Given the description of an element on the screen output the (x, y) to click on. 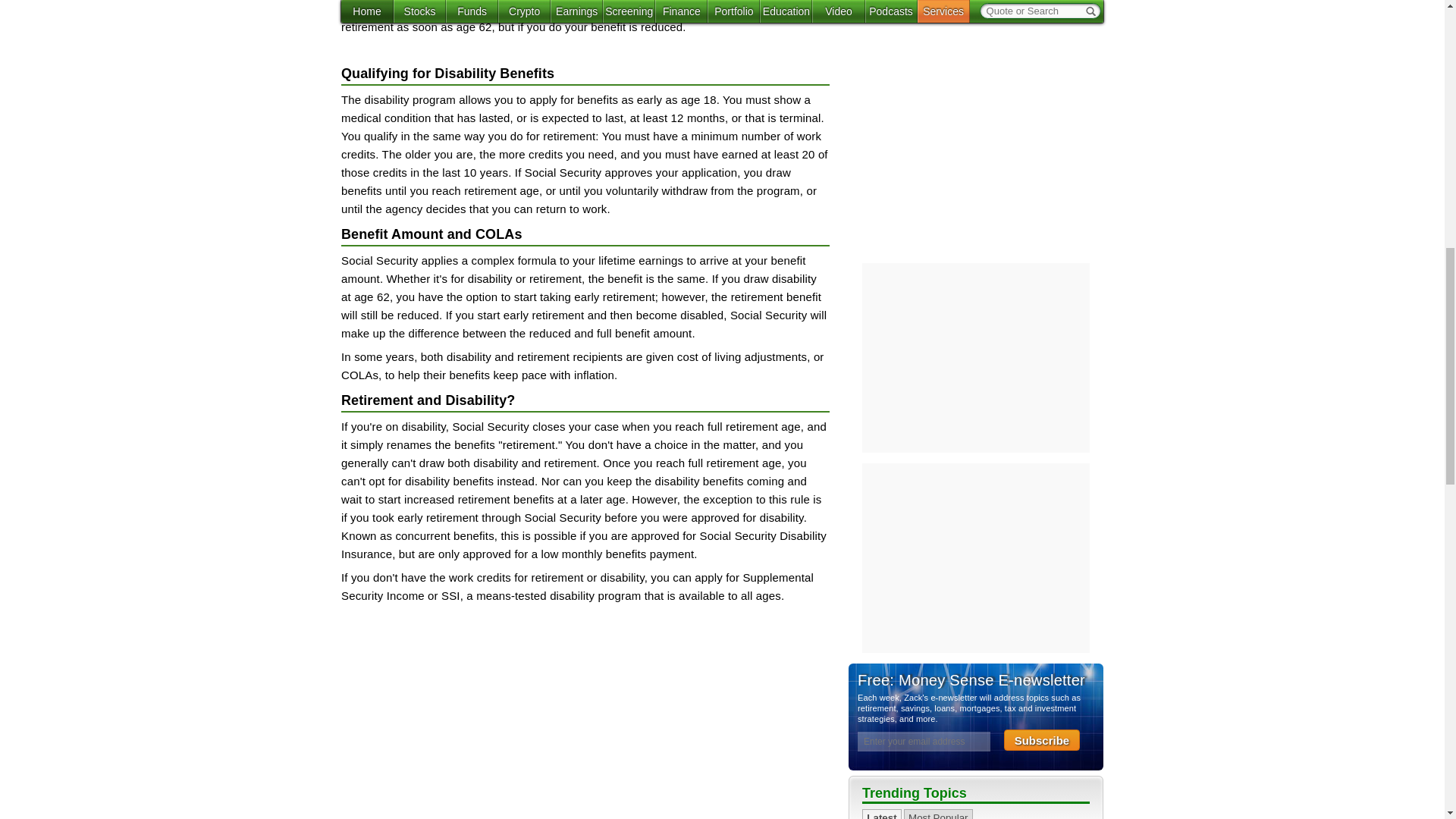
Subscribe (1042, 22)
Advertisement (584, 719)
